Given the description of an element on the screen output the (x, y) to click on. 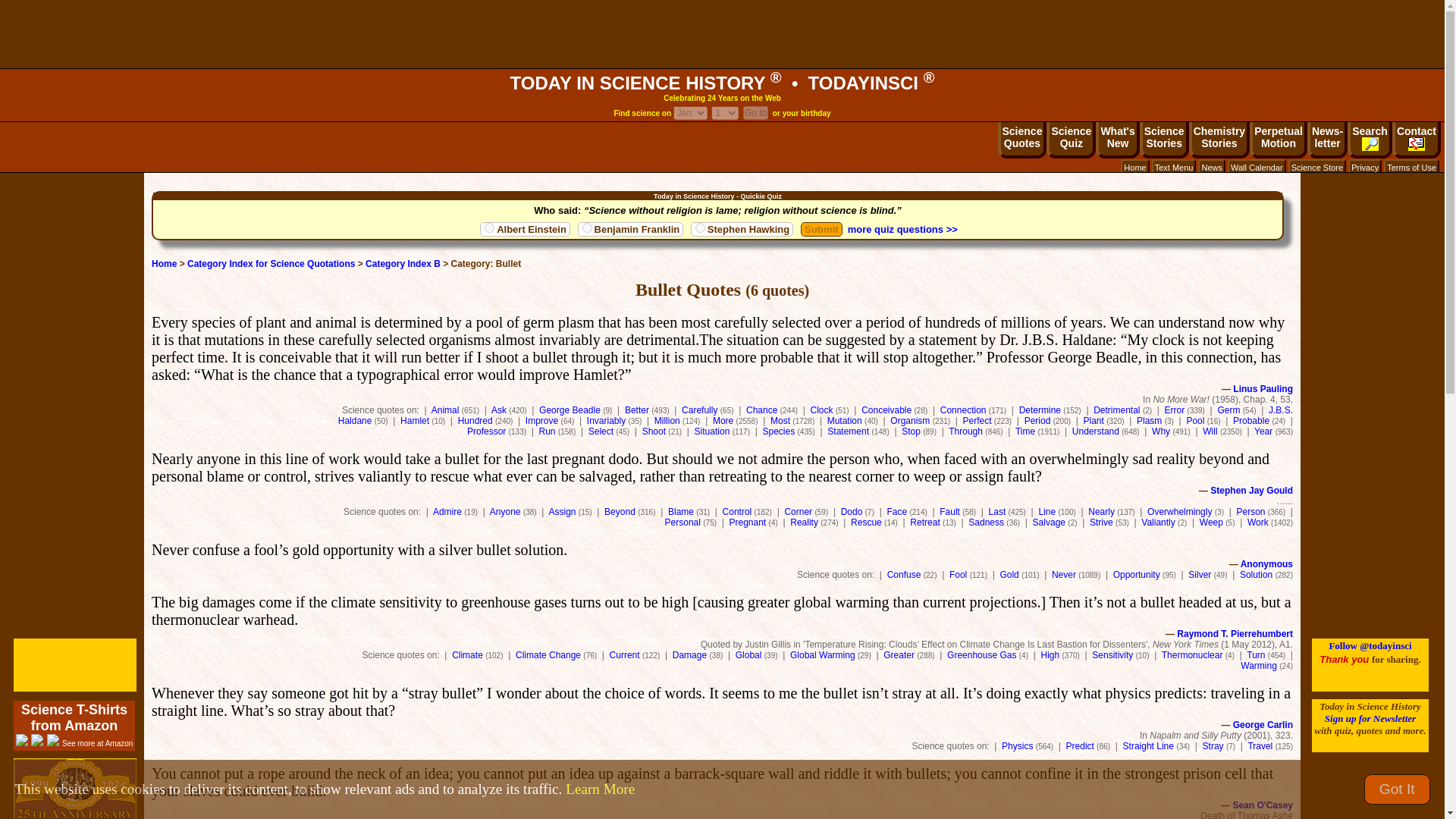
Select Month first (724, 112)
Search the site (1369, 140)
Hundred (475, 420)
Privacy (1364, 167)
Text Menu (1173, 167)
Go to (755, 112)
Home (1134, 167)
Better (636, 409)
J.B.S. Haldane (814, 414)
Printable Wall Calendar (1256, 167)
